Given the description of an element on the screen output the (x, y) to click on. 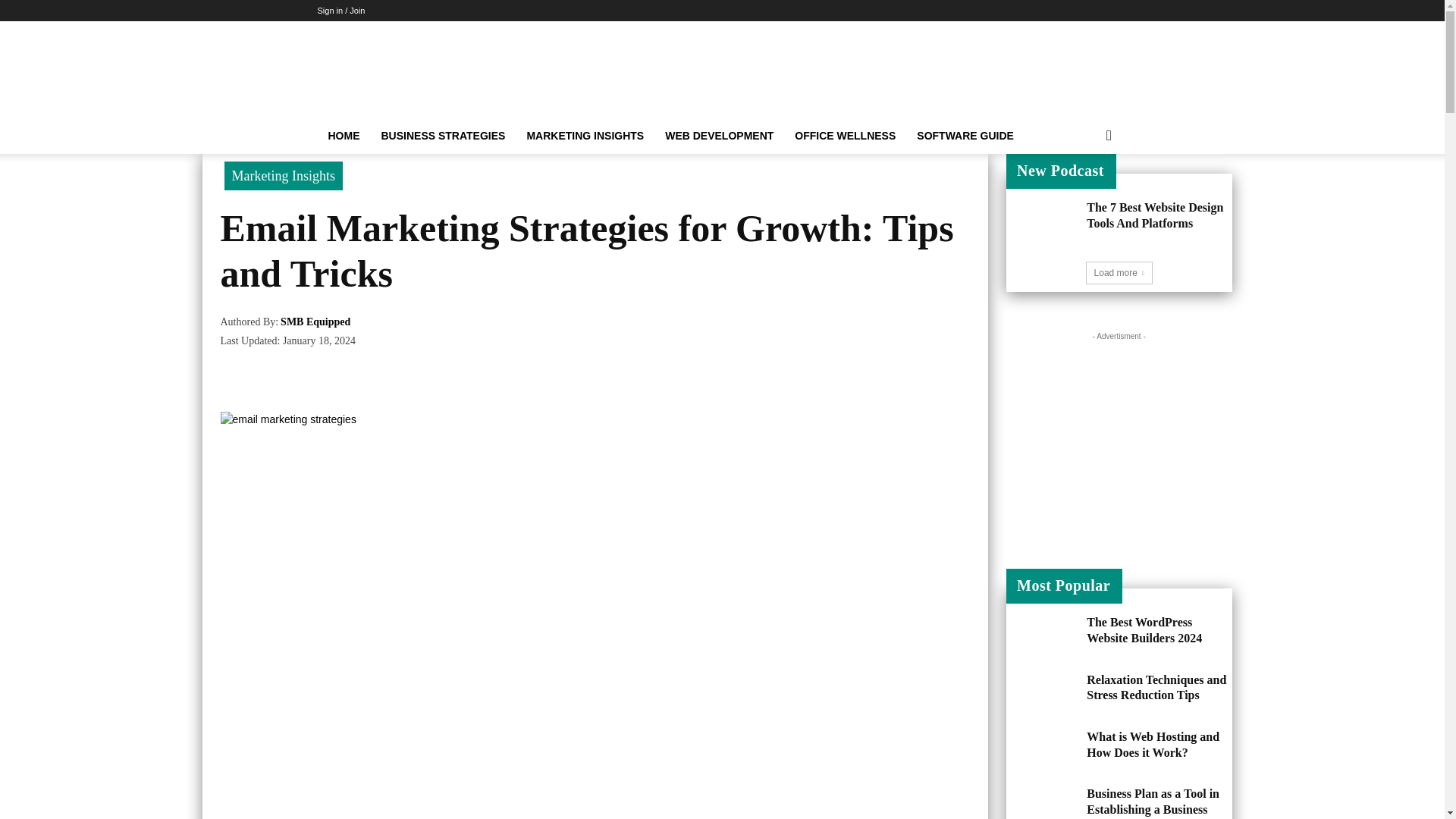
SOFTWARE GUIDE (965, 135)
OFFICE WELLNESS (844, 135)
Search (1085, 196)
SMB Equipped (315, 322)
WEB DEVELOPMENT (718, 135)
HOME (343, 135)
BUSINESS STRATEGIES (442, 135)
Marketing Insights (283, 175)
MARKETING INSIGHTS (584, 135)
